Given the description of an element on the screen output the (x, y) to click on. 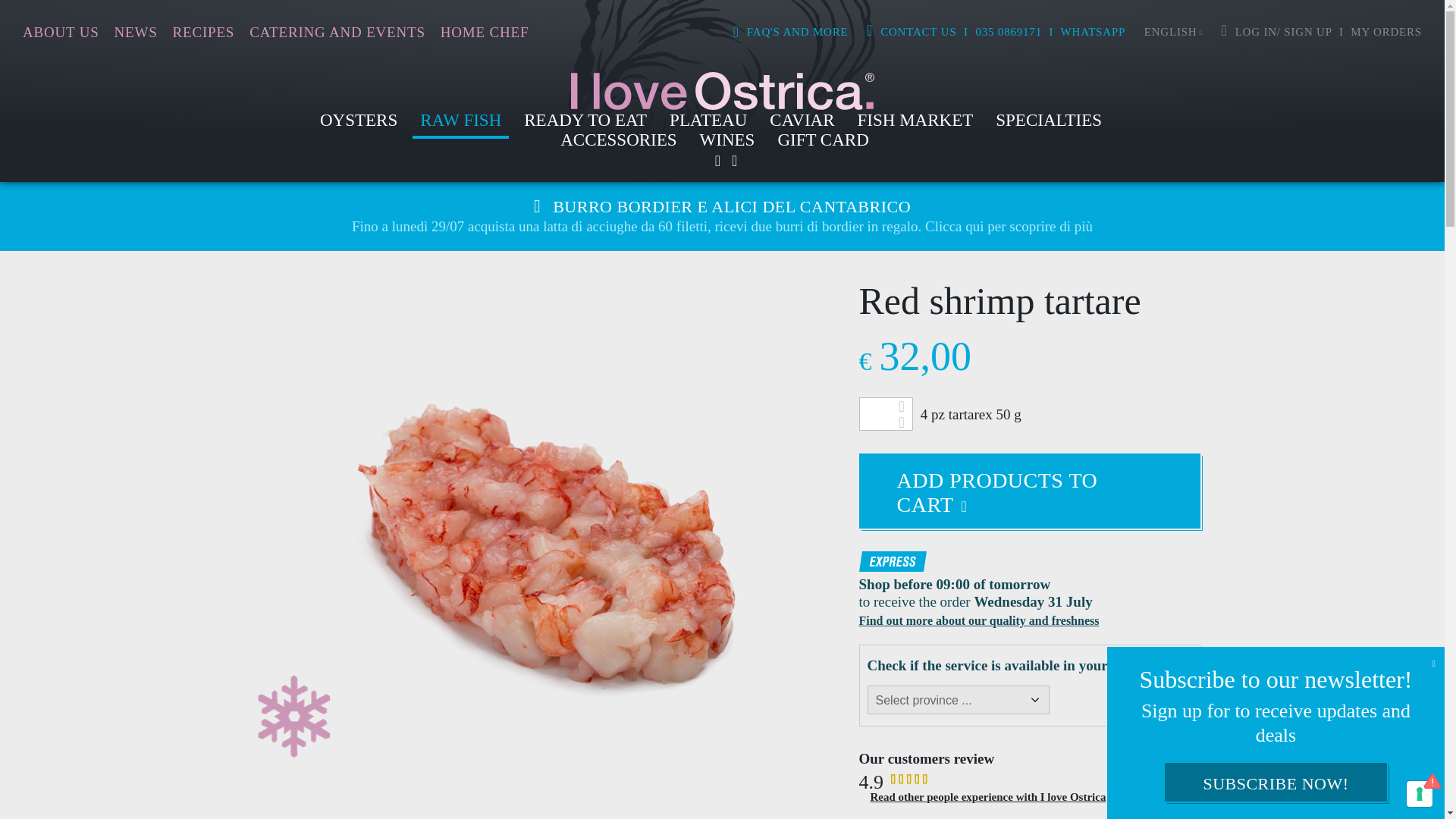
CATERING AND EVENTS (336, 32)
Read other people experience with I love Ostrica (988, 797)
SPECIALTIES (1048, 124)
WINES (727, 144)
PLATEAU (708, 124)
ABOUT US (61, 32)
OYSTERS (358, 124)
RECIPES (203, 32)
ACCESSORIES (618, 144)
035 0869171 (1008, 31)
HOME CHEF (484, 32)
FISH MARKET (915, 124)
NEWS (136, 32)
GIFT CARD (823, 144)
RAW FISH (460, 124)
